Given the description of an element on the screen output the (x, y) to click on. 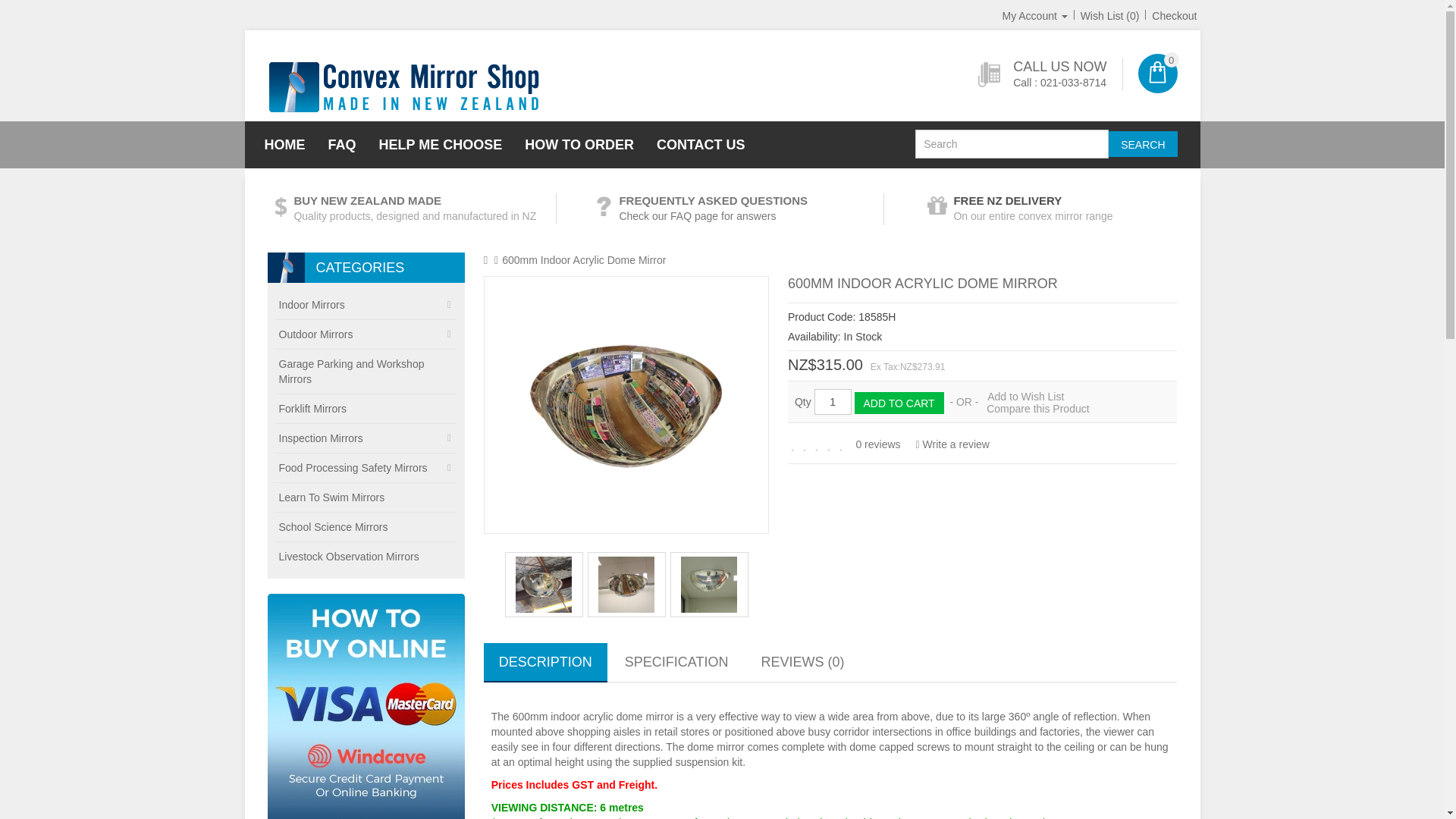
HOW TO ORDER (579, 144)
Add to Wish List (1025, 396)
600mm Indoor Acrylic Dome Mirror (625, 404)
HELP ME CHOOSE (440, 144)
600mm Indoor Acrylic Dome Mirror (626, 584)
Check our FAQ page for answers (697, 215)
0 (1156, 73)
Compare this Product (1038, 408)
1 (832, 401)
Checkout (1173, 15)
600mm Indoor Acrylic Dome Mirror (625, 584)
SEARCH (1142, 144)
BUY NEW ZEALAND MADE (367, 200)
600mm Indoor Acrylic Dome Mirror (544, 584)
FREQUENTLY ASKED QUESTIONS (713, 200)
